Given the description of an element on the screen output the (x, y) to click on. 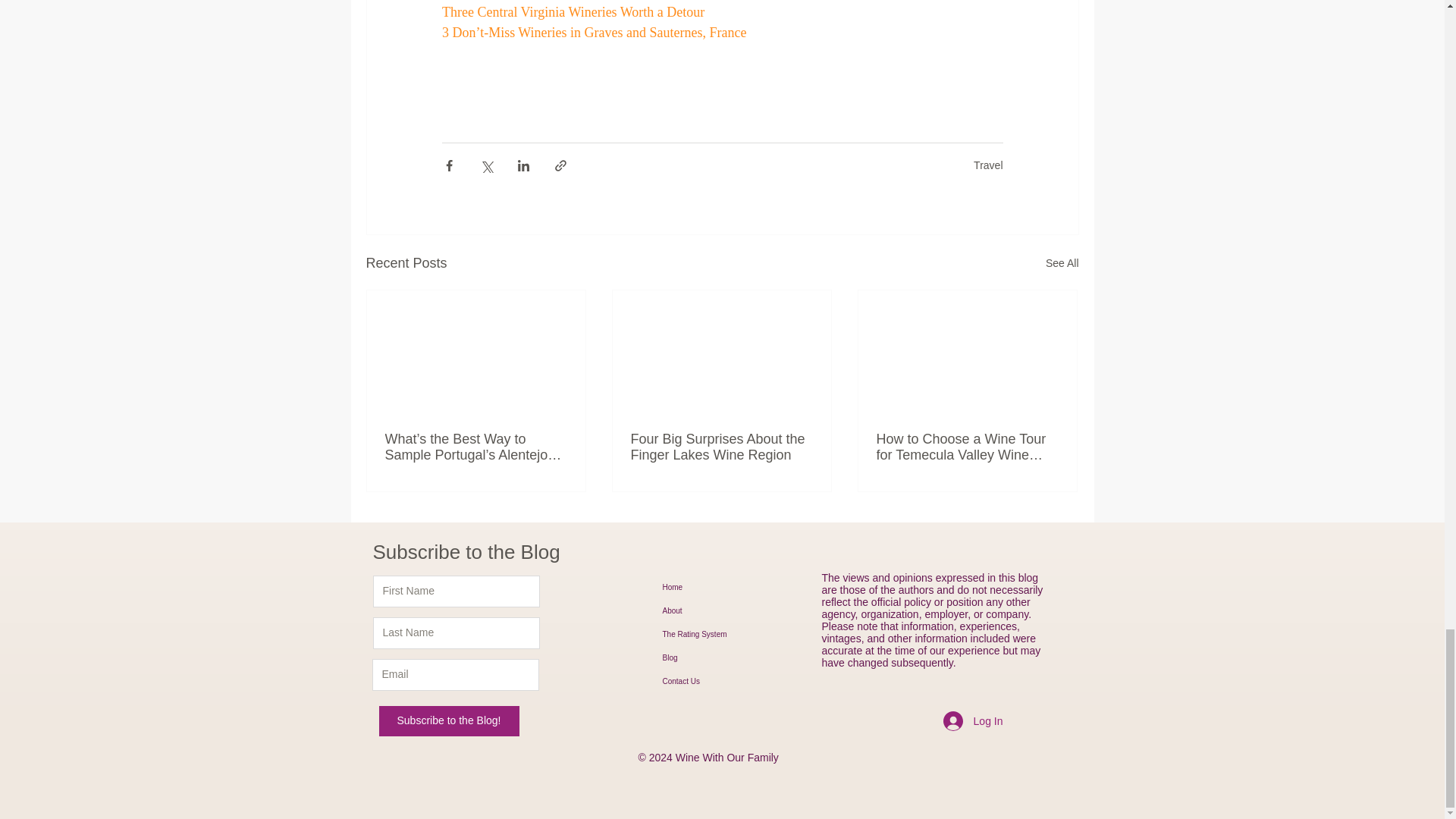
Three Central Virginia Wineries Worth a Detour (572, 11)
Travel (988, 164)
Four Big Surprises About the Finger Lakes Wine Region (721, 447)
See All (1061, 263)
